Given the description of an element on the screen output the (x, y) to click on. 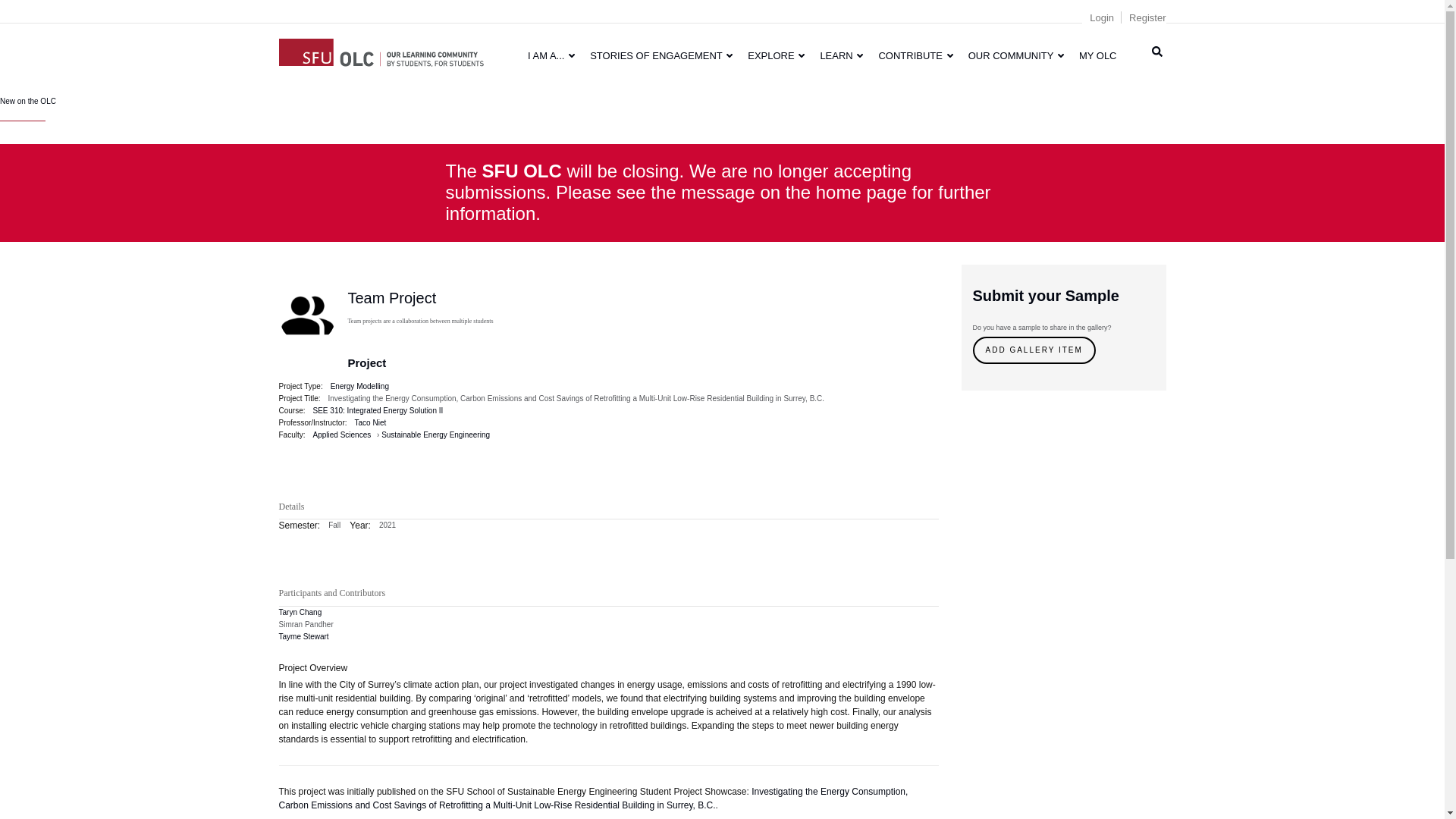
Login (1101, 17)
OUR COMMUNITY (1015, 55)
EXPLORE (775, 55)
Home (381, 50)
CONTRIBUTE (914, 55)
LEARN (841, 55)
I AM A... (550, 55)
Register (1147, 17)
STORIES OF ENGAGEMENT (660, 55)
